Given the description of an element on the screen output the (x, y) to click on. 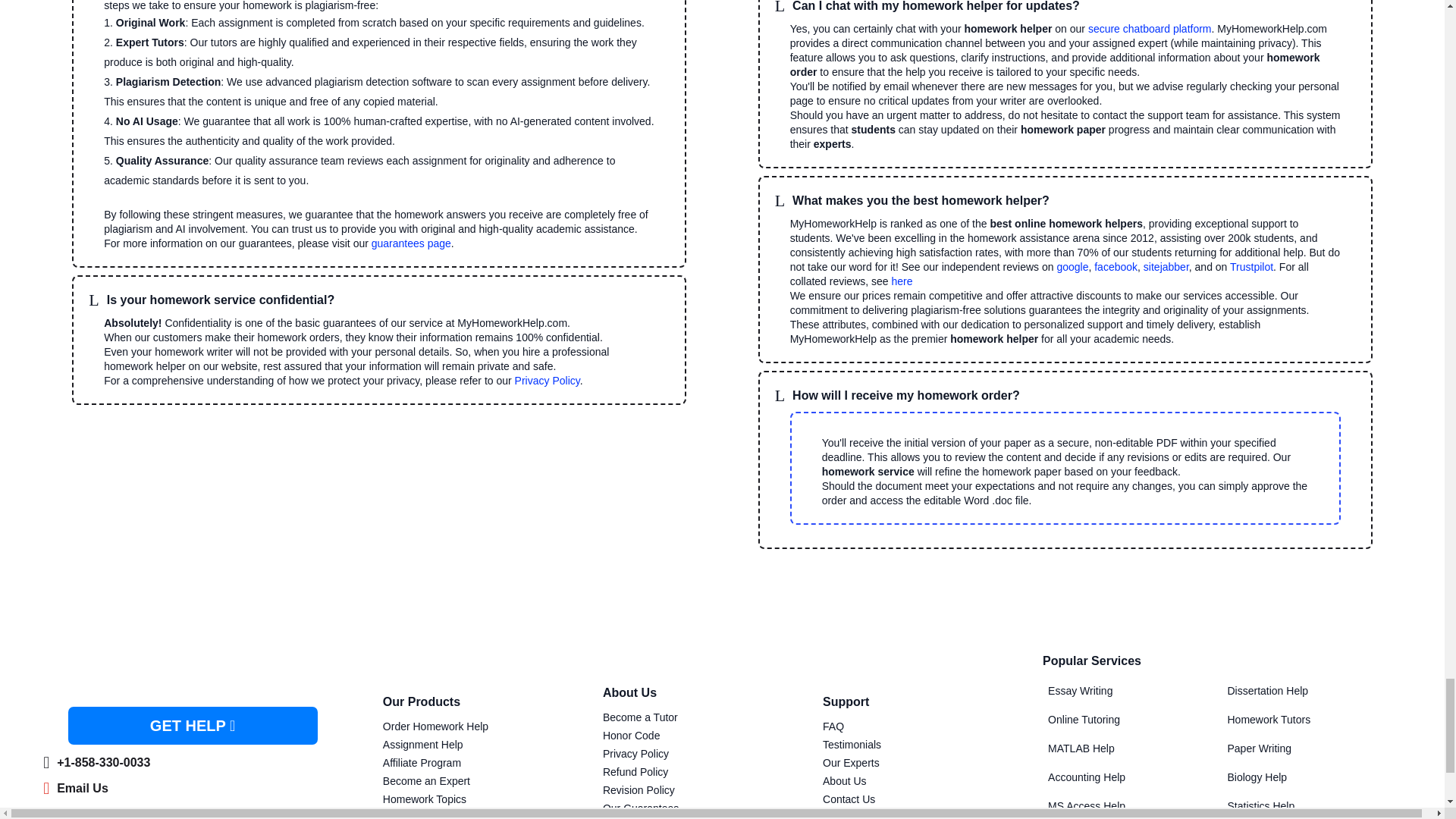
FAQ (833, 726)
